Given the description of an element on the screen output the (x, y) to click on. 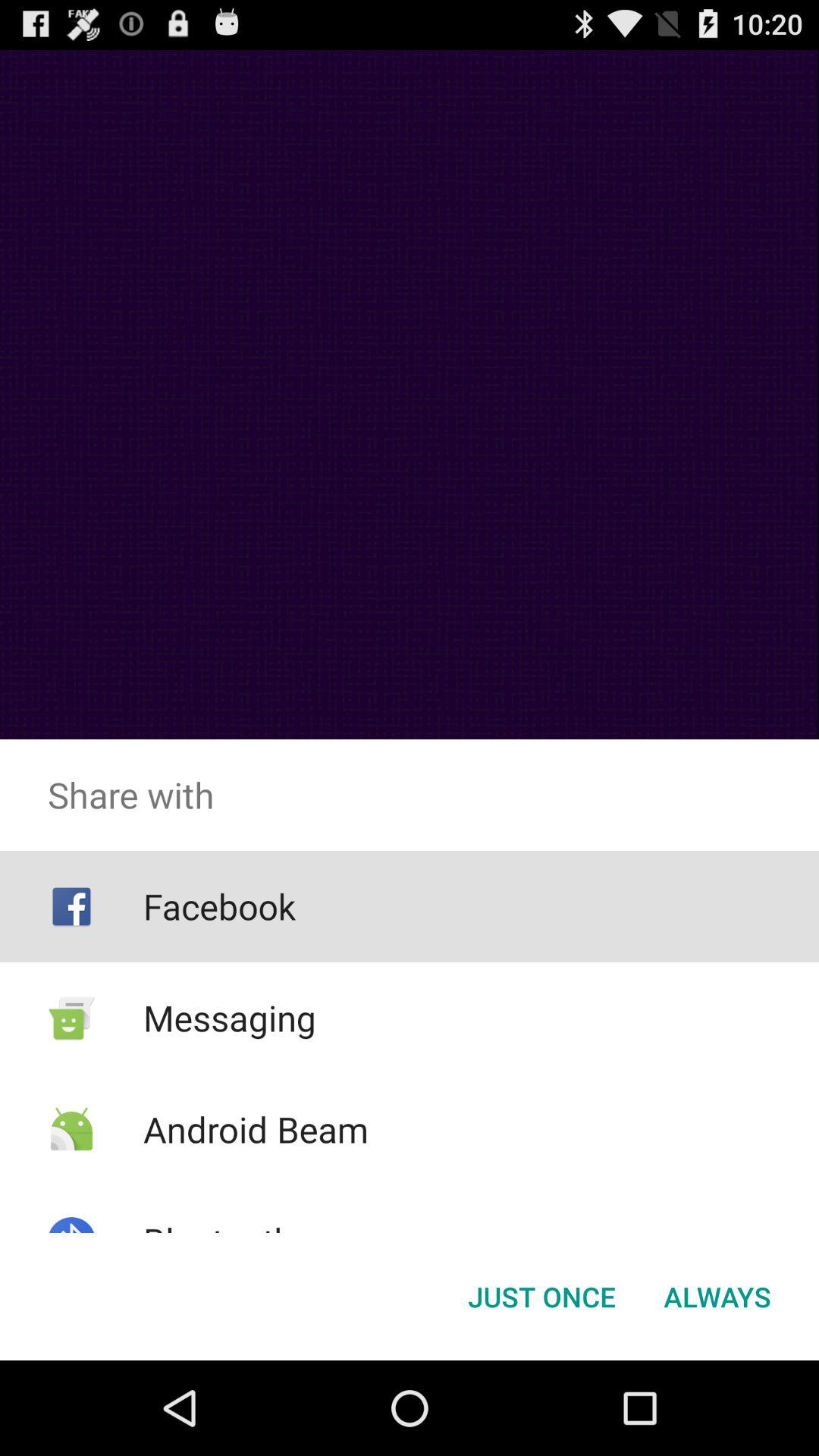
jump to the facebook app (219, 906)
